Given the description of an element on the screen output the (x, y) to click on. 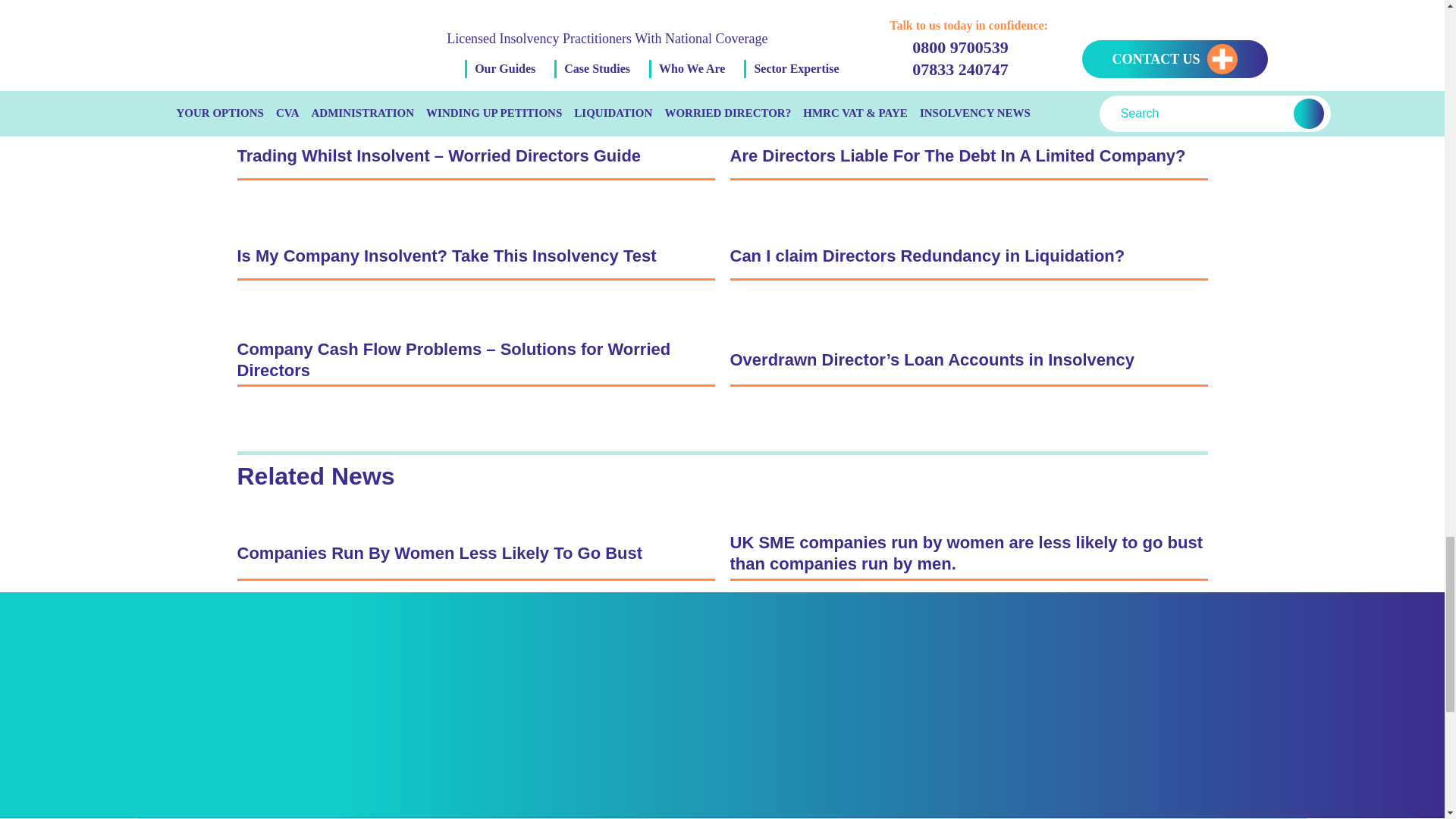
Company Insolvency in Scotland (474, 53)
Can I claim Directors Redundancy in Liquidation? (968, 257)
Is My Company Insolvent? Take This Insolvency Test (474, 257)
Companies Run By Women Less Likely To Go Bust (474, 554)
Are Directors Liable For The Debt In A Limited Company? (968, 157)
